Given the description of an element on the screen output the (x, y) to click on. 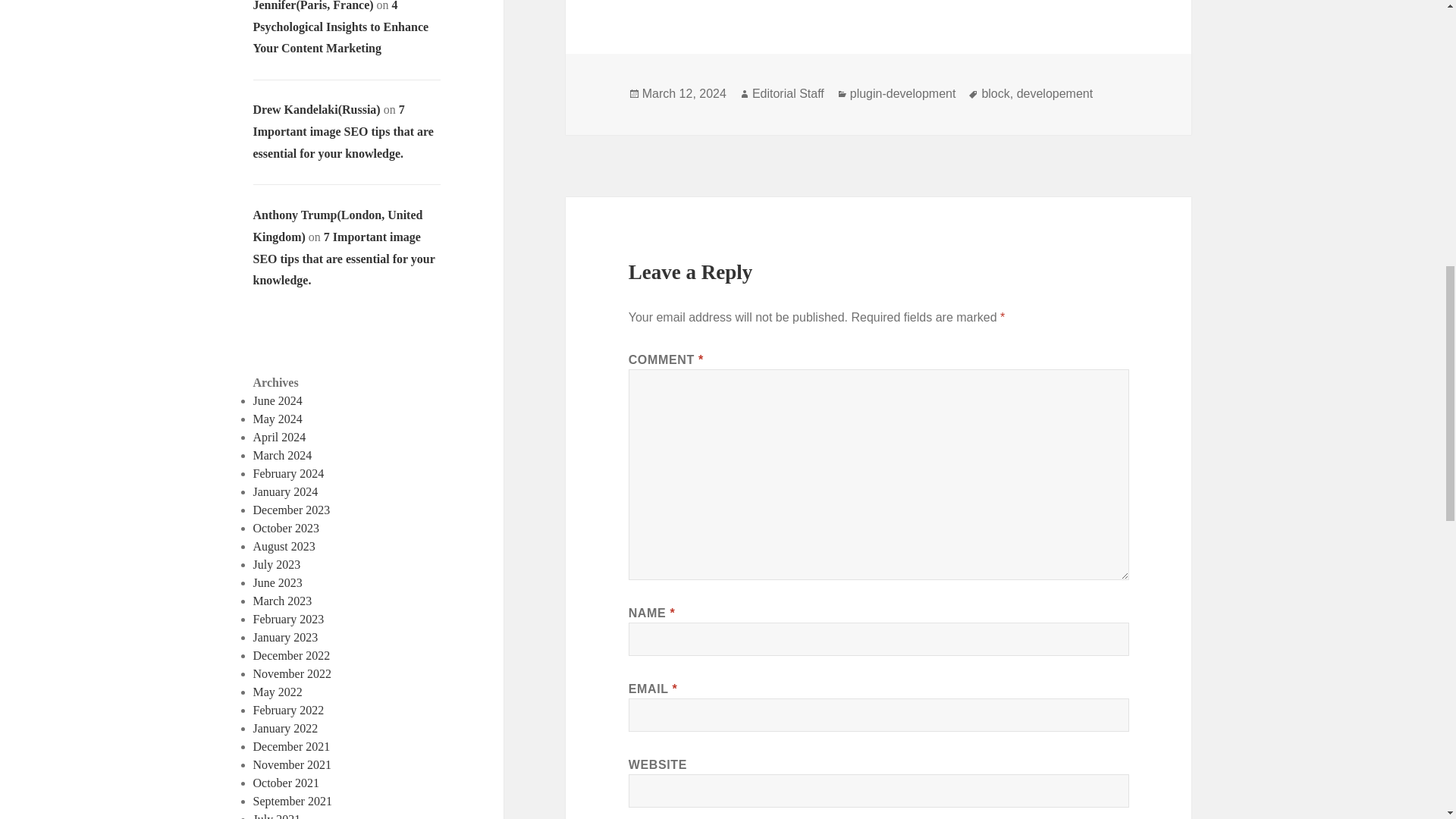
March 2023 (283, 600)
December 2023 (291, 509)
May 2024 (277, 418)
May 2022 (277, 691)
July 2023 (277, 563)
December 2022 (291, 655)
December 2021 (291, 746)
February 2024 (288, 472)
February 2022 (288, 709)
January 2022 (285, 727)
June 2023 (277, 582)
June 2024 (277, 400)
November 2021 (292, 764)
